Given the description of an element on the screen output the (x, y) to click on. 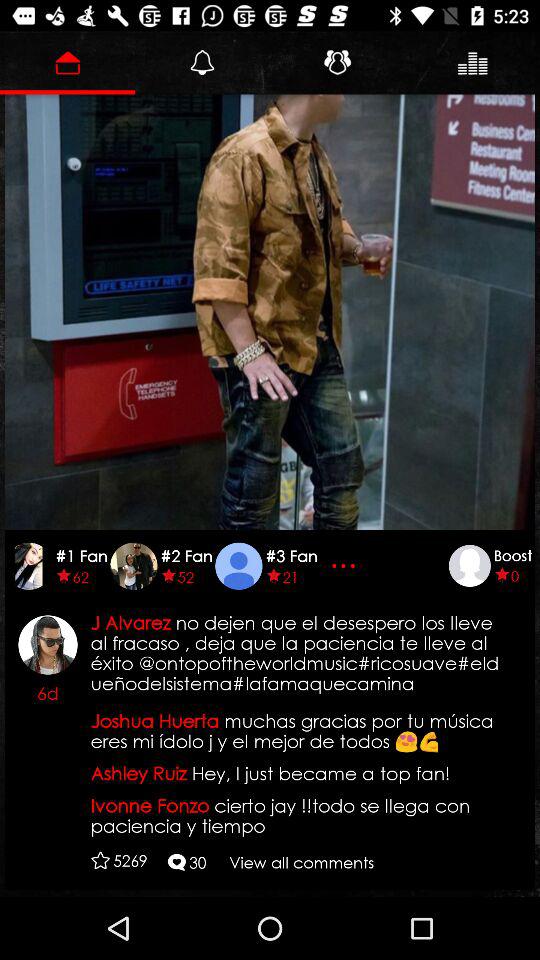
choose item next to the #3 fan item (346, 565)
